Given the description of an element on the screen output the (x, y) to click on. 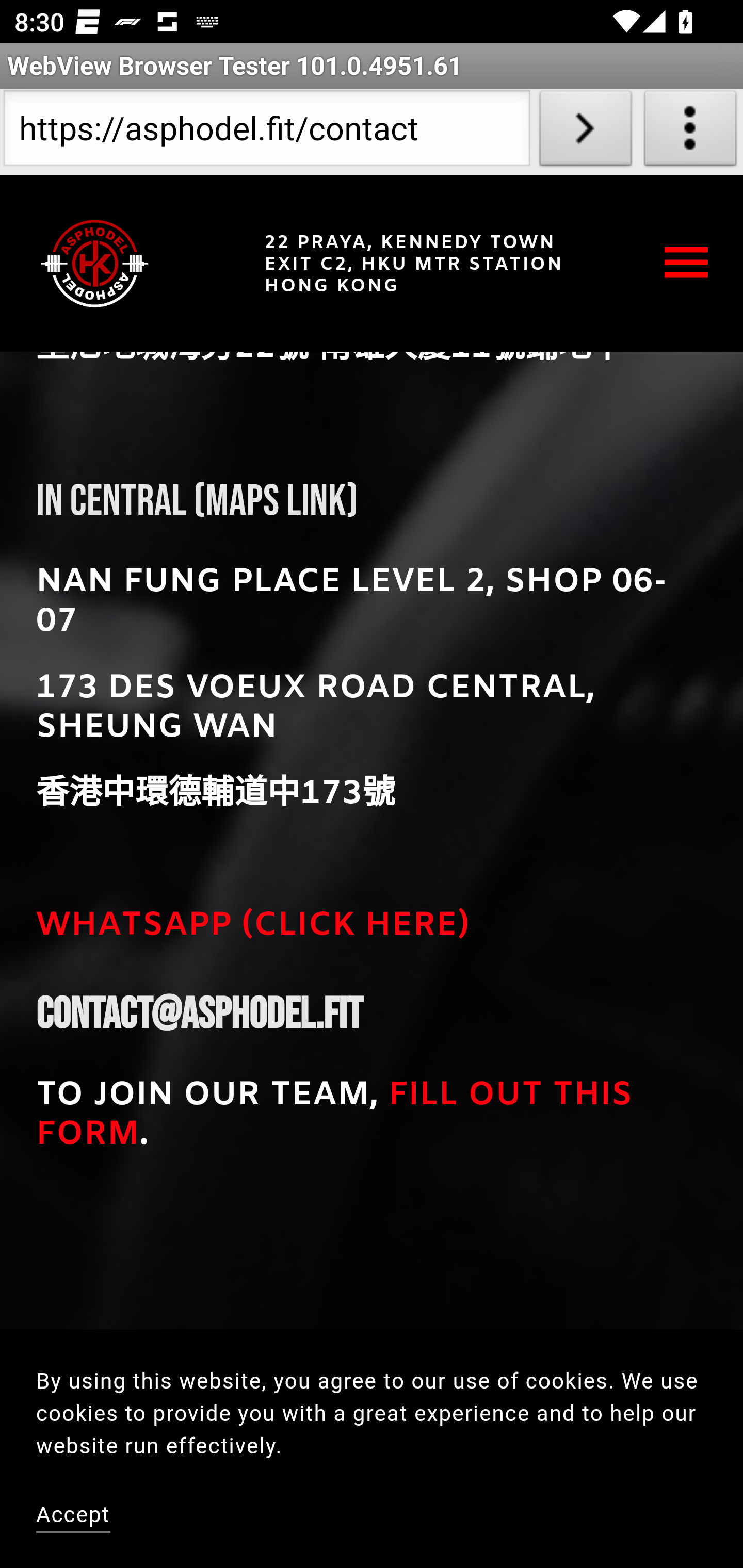
https://asphodel.fit/contact (266, 132)
Load URL (585, 132)
About WebView (690, 132)
Asphodel Fitness (95, 263)
Open navigation menu (686, 262)
WHATSAPP (CLICK HERE) (253, 927)
CONTACT@ASPHODEL.FIT (199, 1013)
FILL OUT THIS FORM (340, 1117)
Accept (74, 1516)
